Given the description of an element on the screen output the (x, y) to click on. 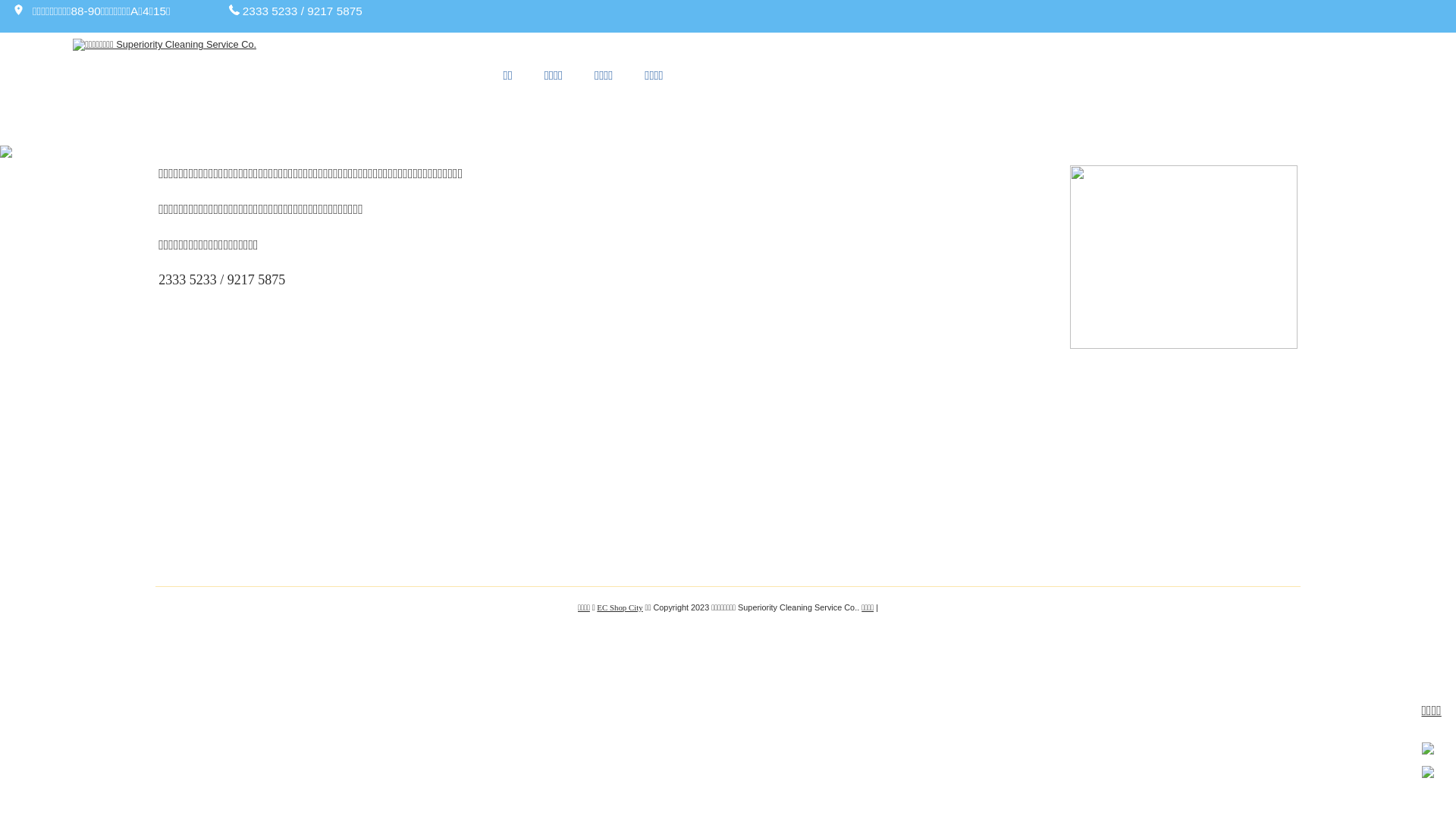
EC Shop City Element type: text (619, 606)
